Given the description of an element on the screen output the (x, y) to click on. 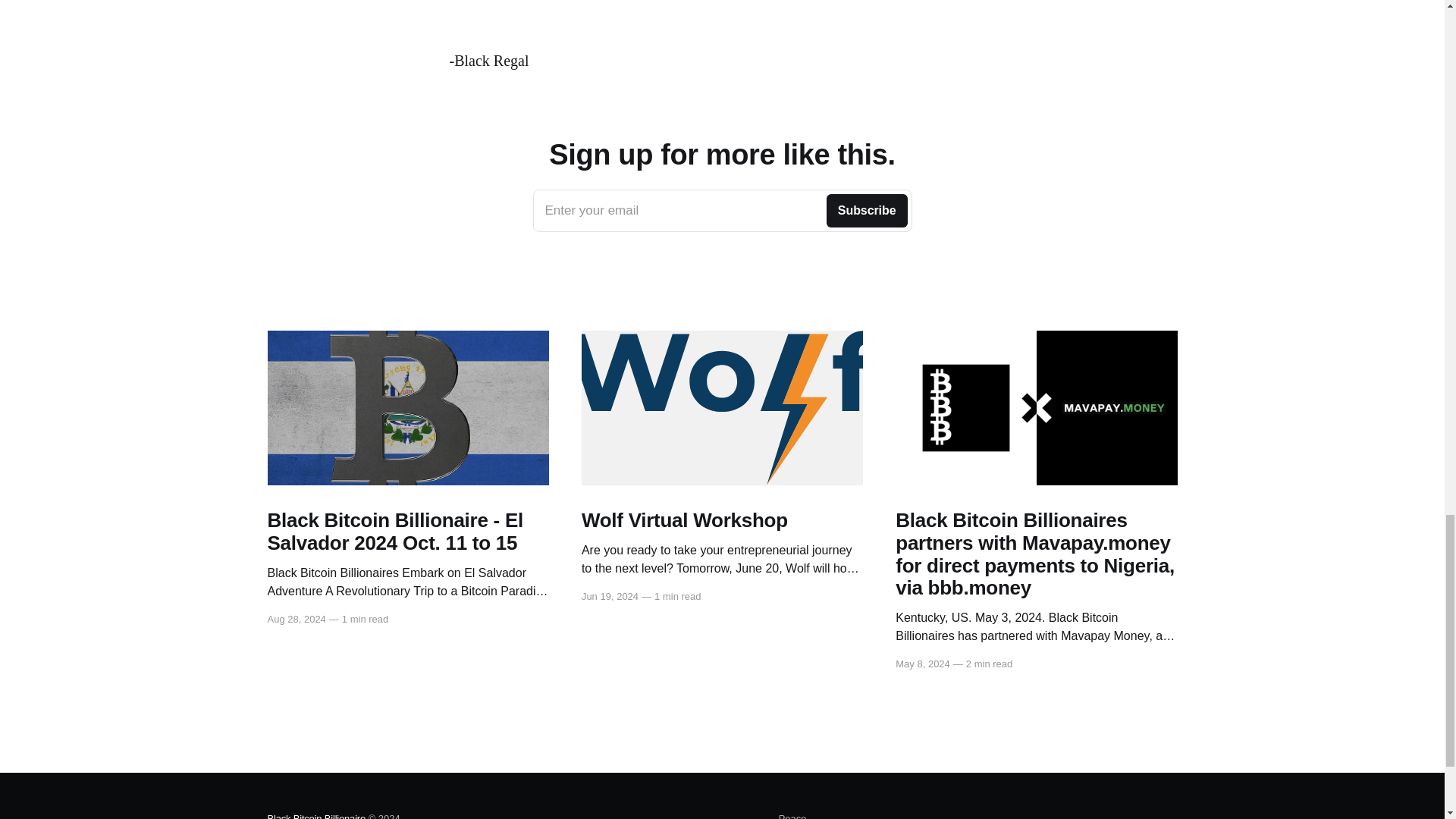
Peace (792, 814)
Black Bitcoin Billionaire (721, 210)
